Given the description of an element on the screen output the (x, y) to click on. 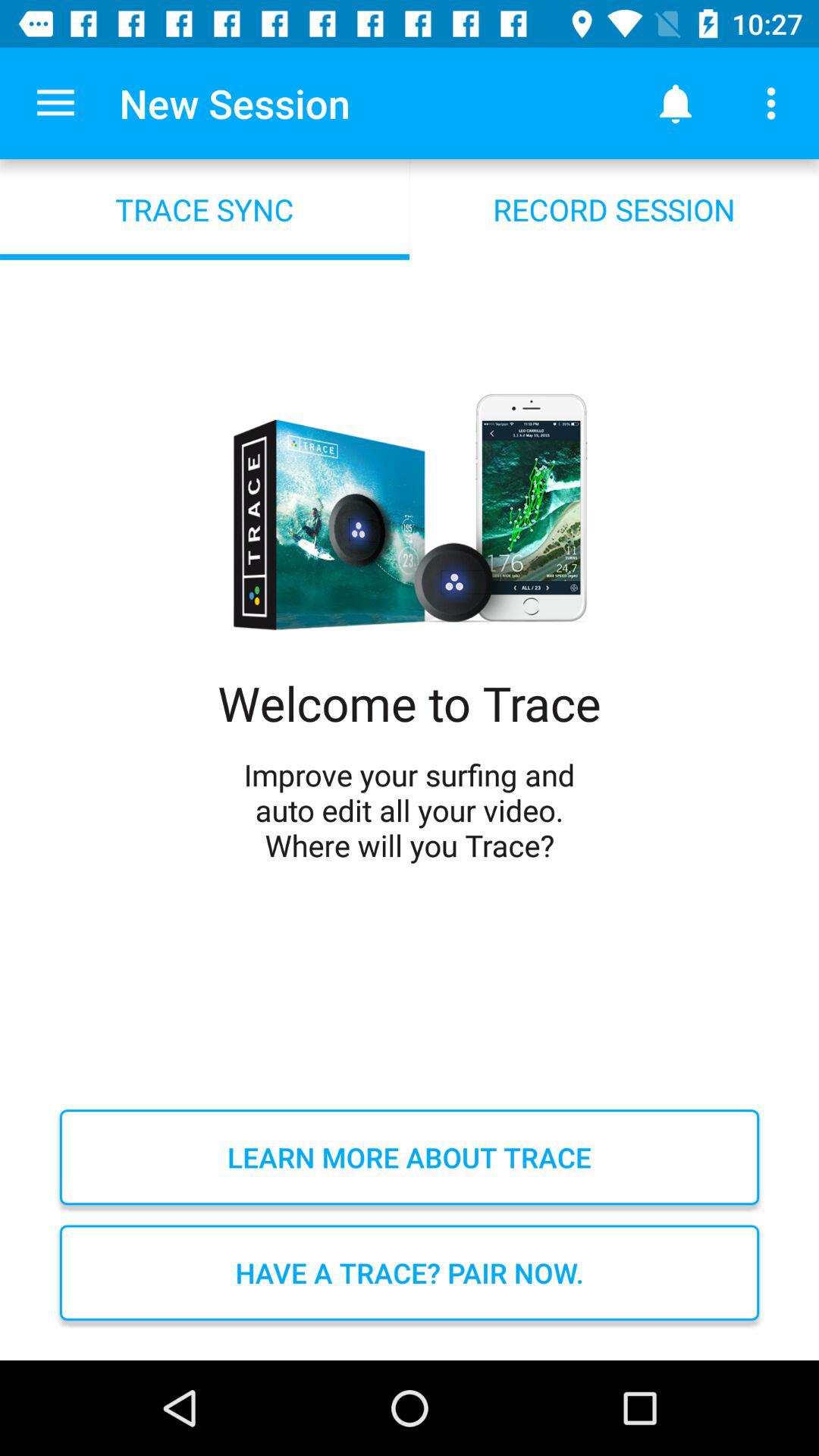
turn off the item below the learn more about icon (409, 1272)
